Given the description of an element on the screen output the (x, y) to click on. 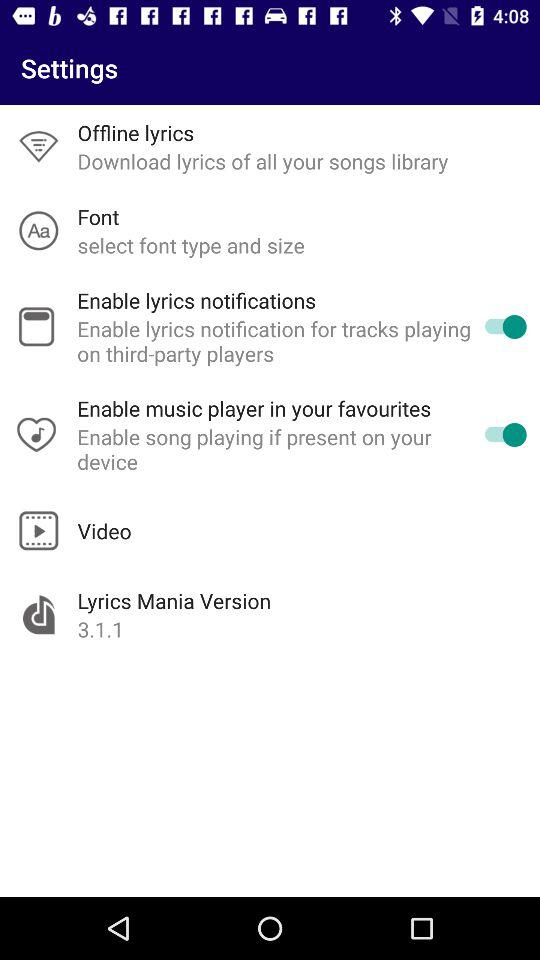
launch the icon above font app (262, 161)
